Given the description of an element on the screen output the (x, y) to click on. 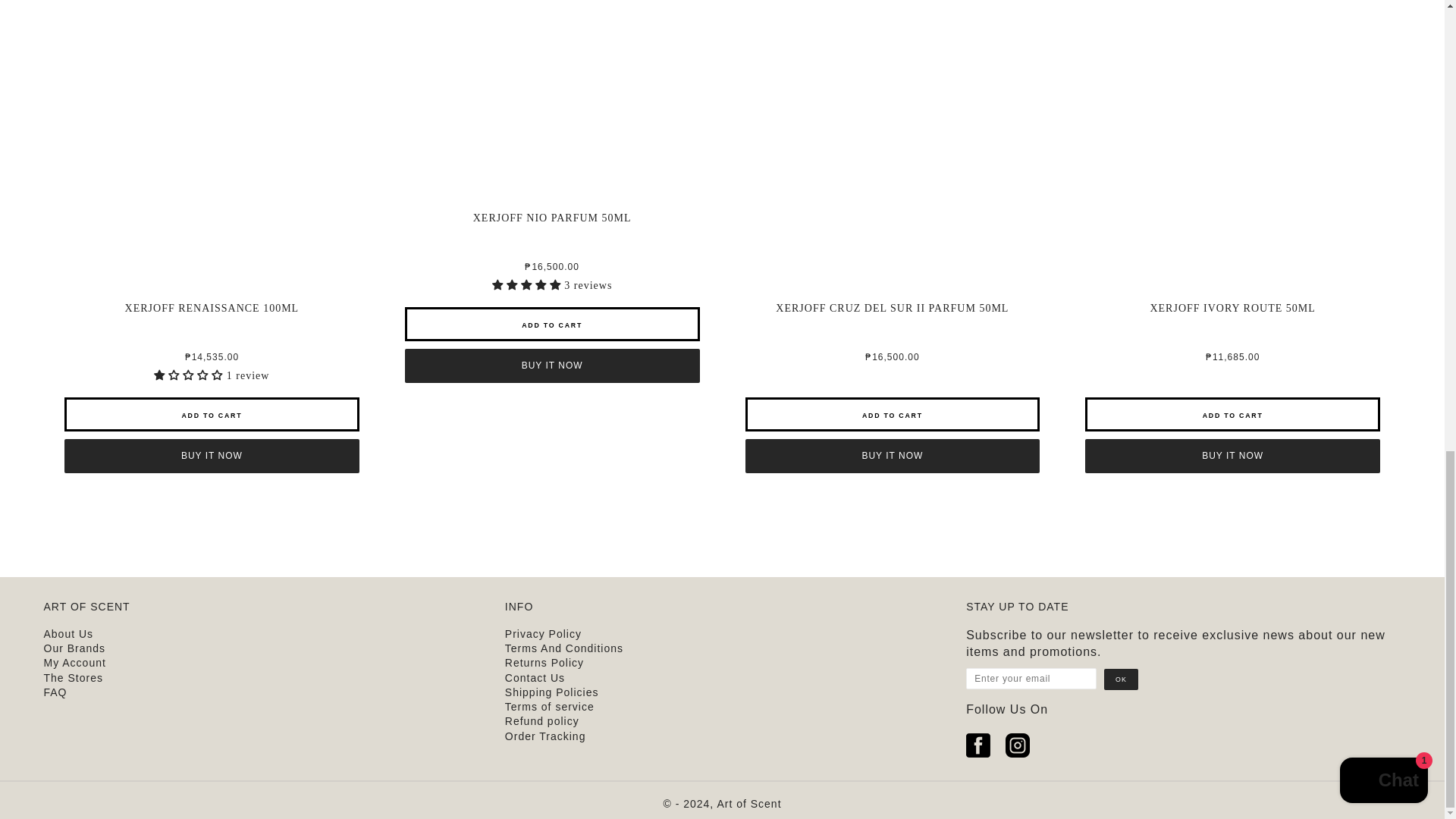
About Us (68, 633)
FAQ (54, 692)
Add to Cart (1232, 414)
Our Brands (74, 648)
Returns Policy (544, 662)
Privacy Policy (542, 633)
Add to Cart (552, 324)
OK (1120, 679)
My Account (74, 662)
The Stores (73, 677)
Add to Cart (891, 414)
Add to Cart (211, 414)
Terms And Conditions (564, 648)
